Given the description of an element on the screen output the (x, y) to click on. 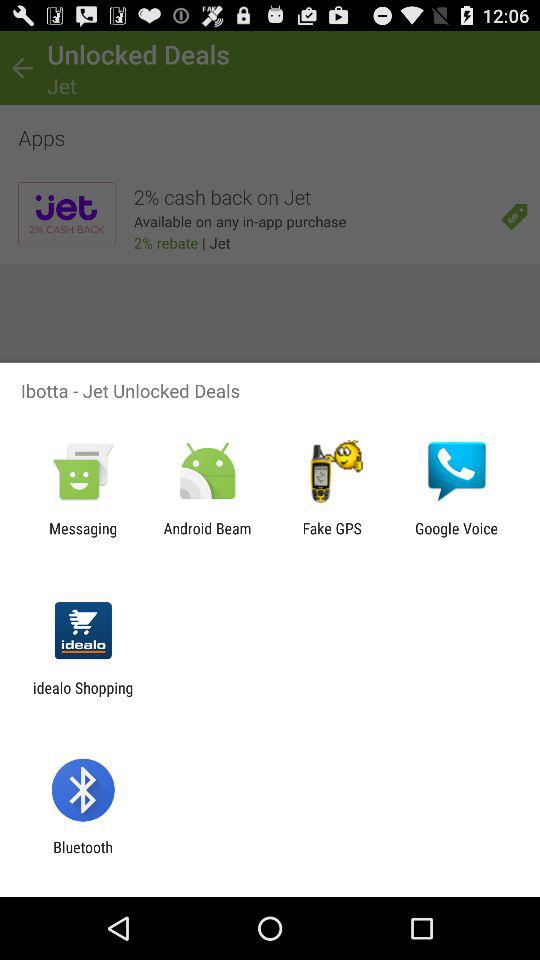
choose the google voice icon (456, 537)
